Given the description of an element on the screen output the (x, y) to click on. 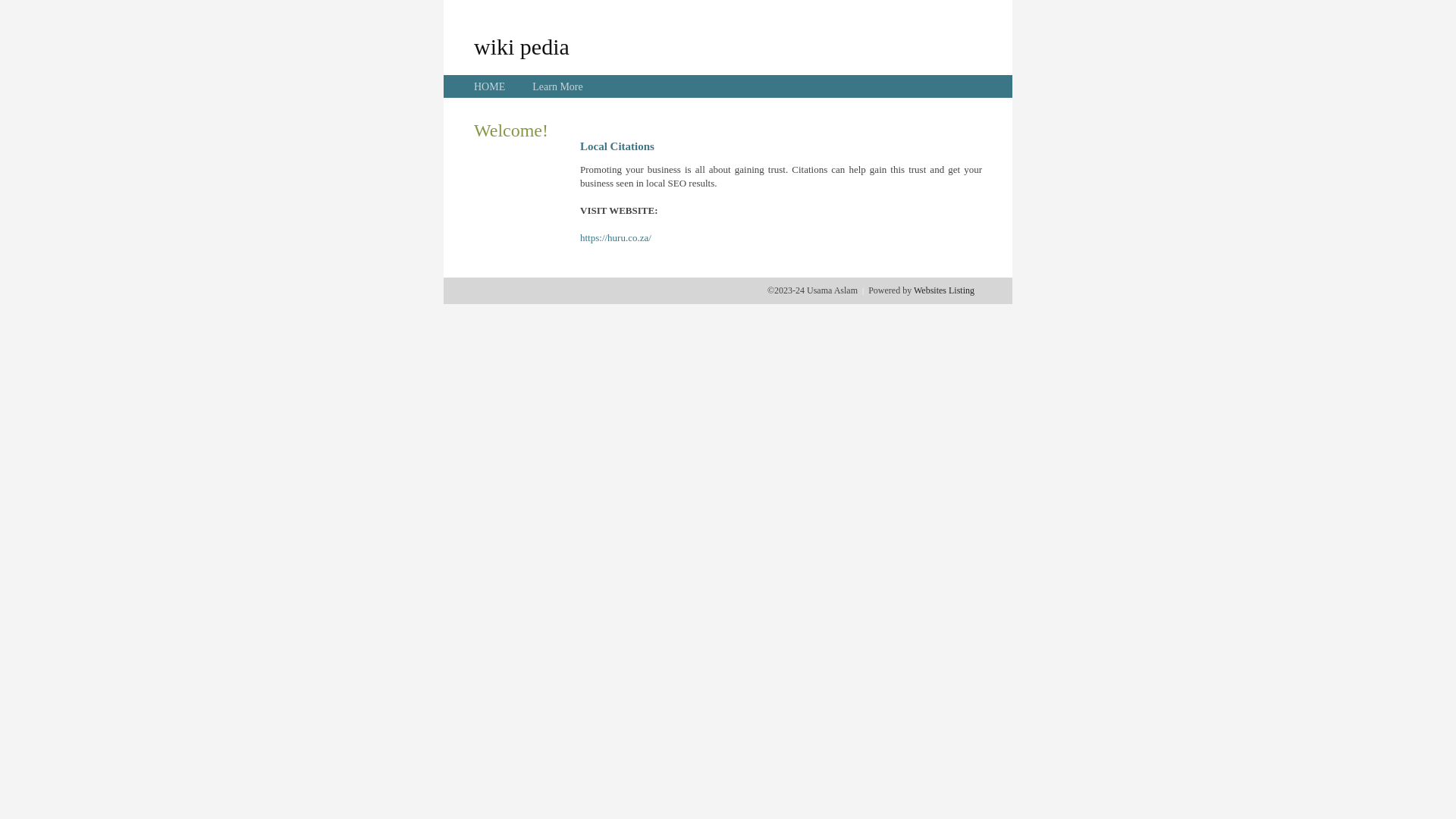
wiki pedia Element type: text (521, 46)
Websites Listing Element type: text (943, 290)
Learn More Element type: text (557, 86)
https://huru.co.za/ Element type: text (615, 237)
HOME Element type: text (489, 86)
